Given the description of an element on the screen output the (x, y) to click on. 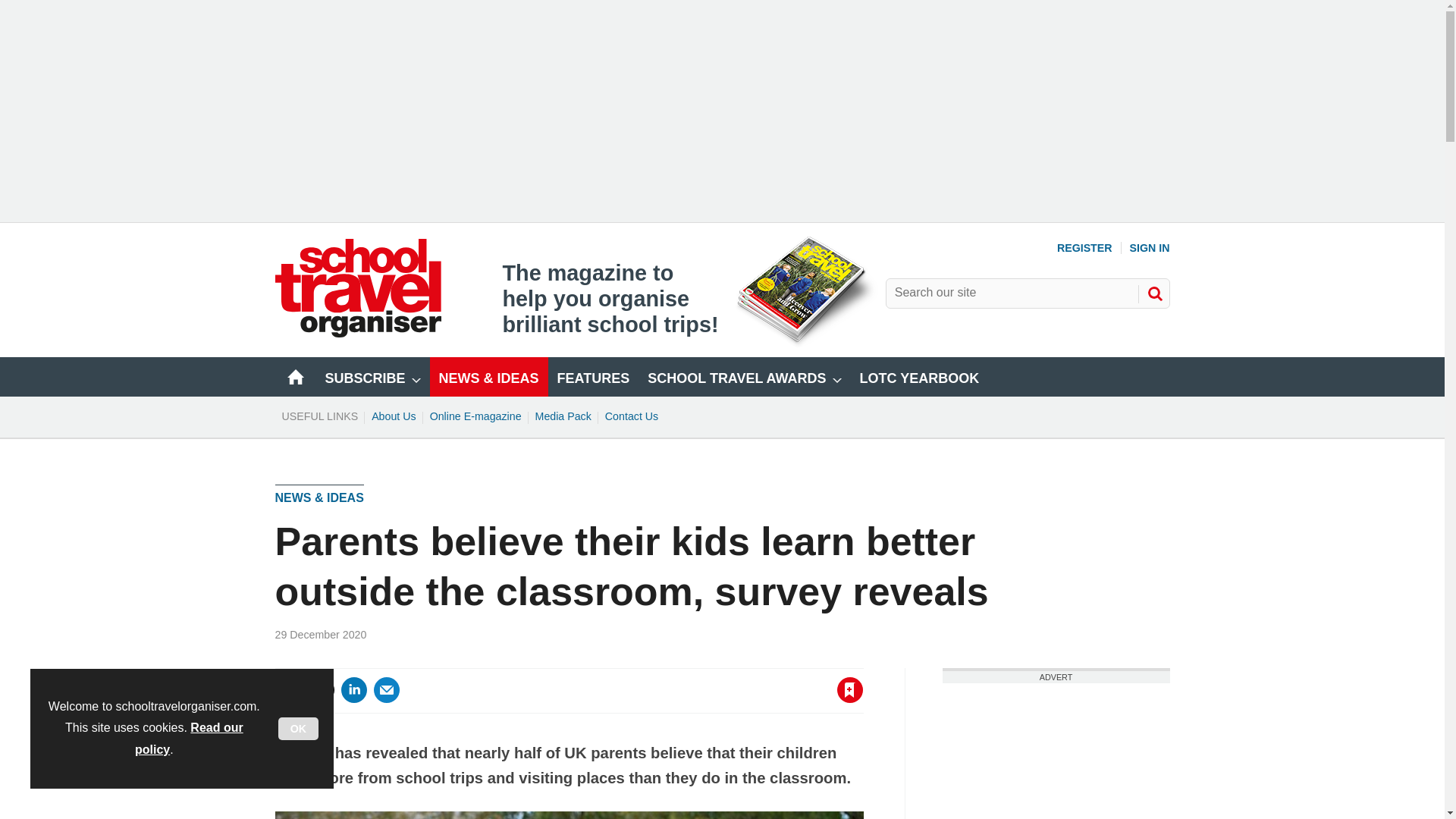
Share this on Facebook (288, 689)
Share this on LinkedIn (352, 689)
Read our policy (189, 738)
SEARCH (1153, 293)
Online E-magazine (475, 416)
About Us (394, 416)
Media Pack (563, 416)
Contact Us (631, 416)
OK (298, 728)
REGISTER (1084, 247)
